Given the description of an element on the screen output the (x, y) to click on. 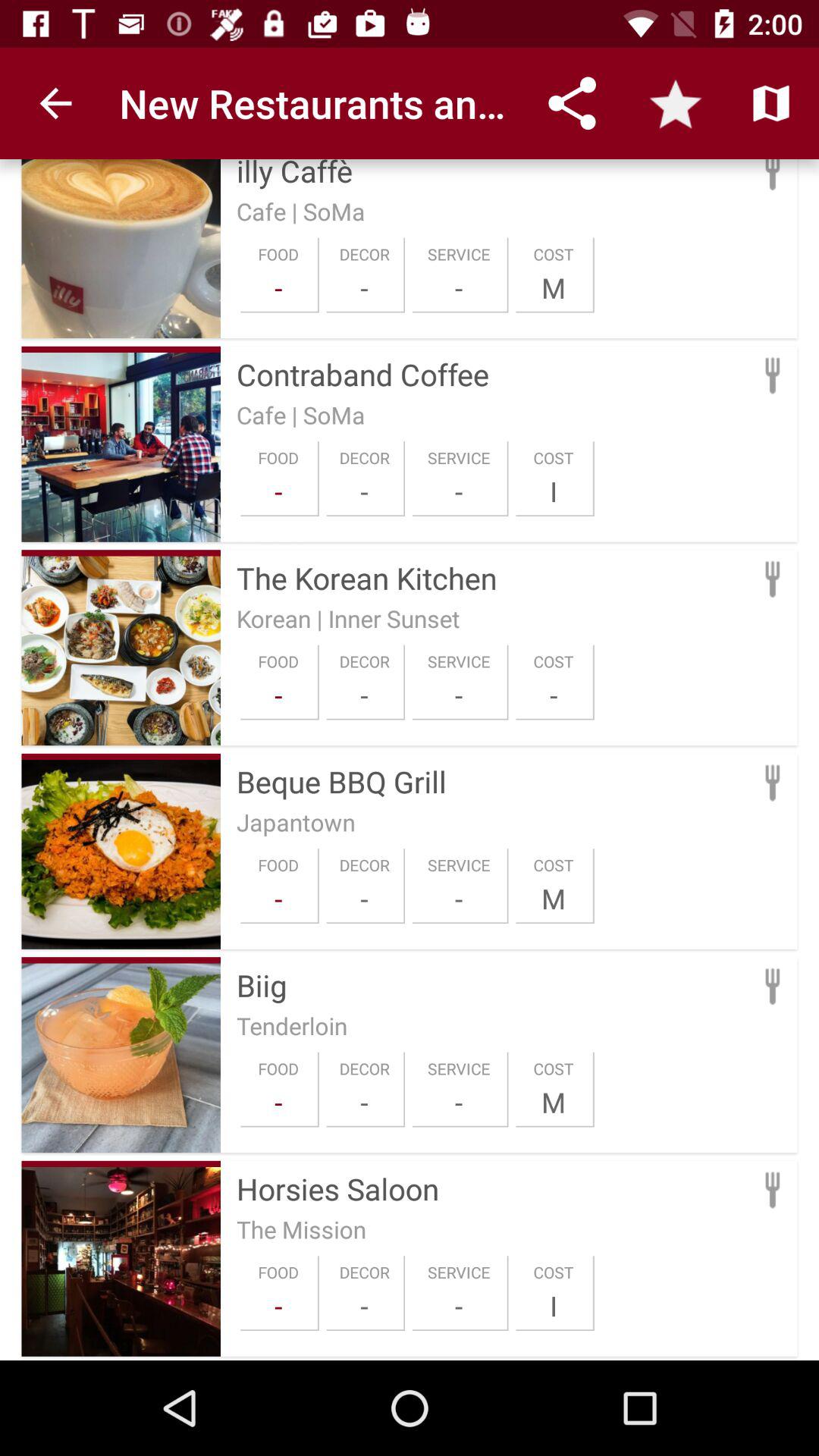
click the item above the tenderloin (492, 985)
